Given the description of an element on the screen output the (x, y) to click on. 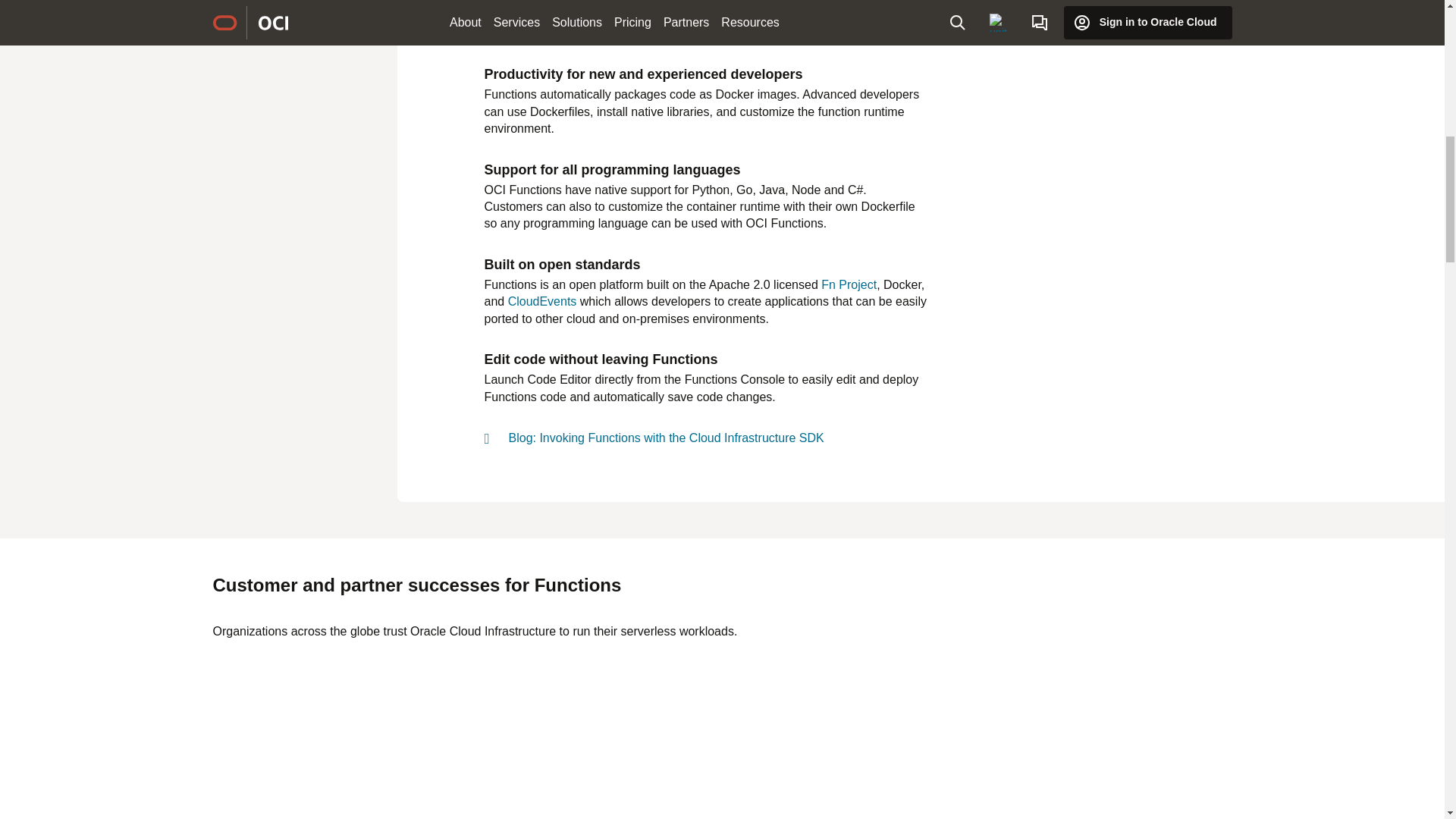
Blog: Invoking Functions with the Cloud Infrastructure SDK (666, 437)
Fn Project (848, 284)
CloudEvents (542, 300)
